Given the description of an element on the screen output the (x, y) to click on. 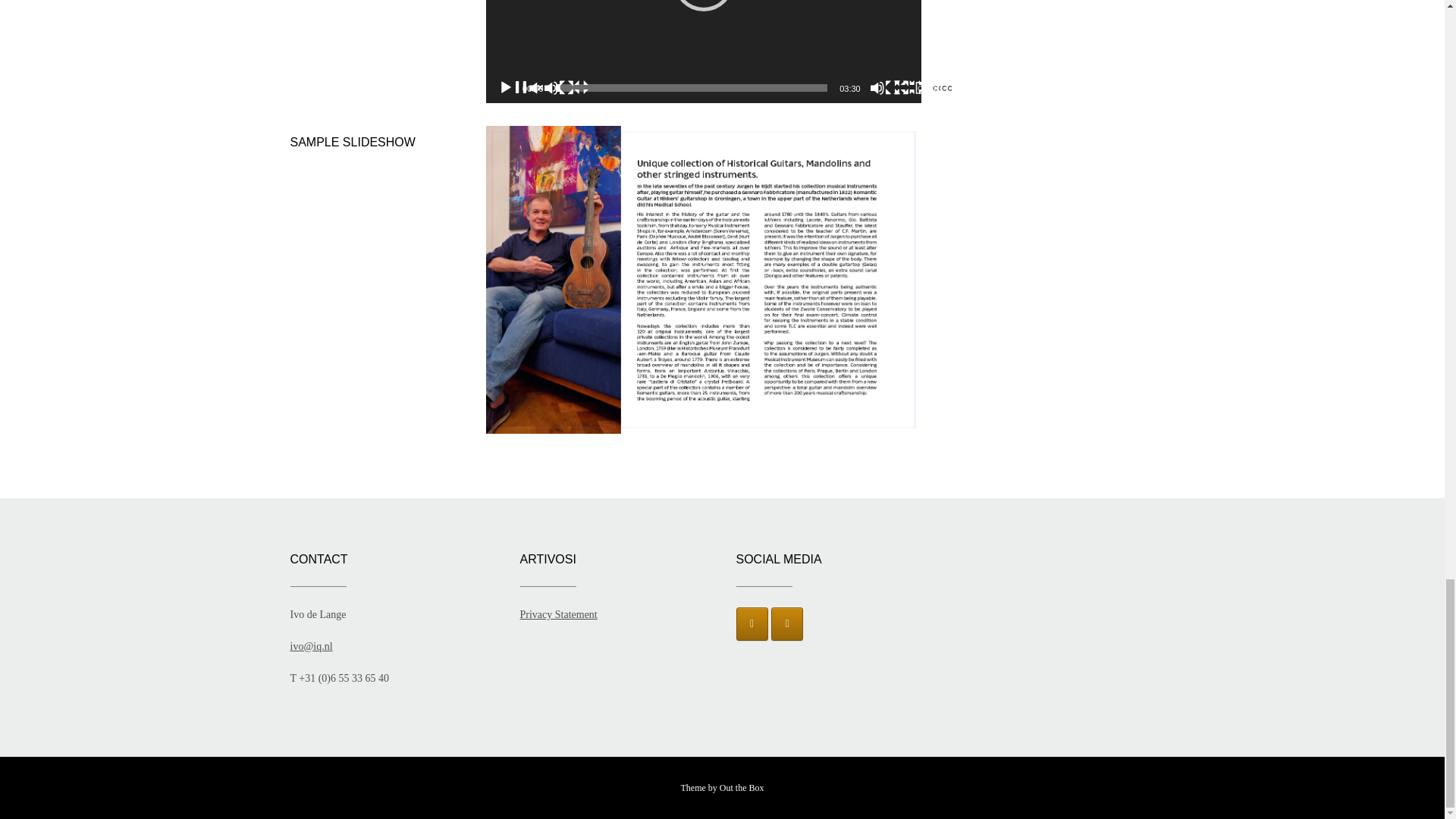
ArtIvoSi on Facebook (751, 623)
Play (543, 87)
Fullscreen (939, 87)
Mute (914, 87)
LinkedIn (787, 623)
